Given the description of an element on the screen output the (x, y) to click on. 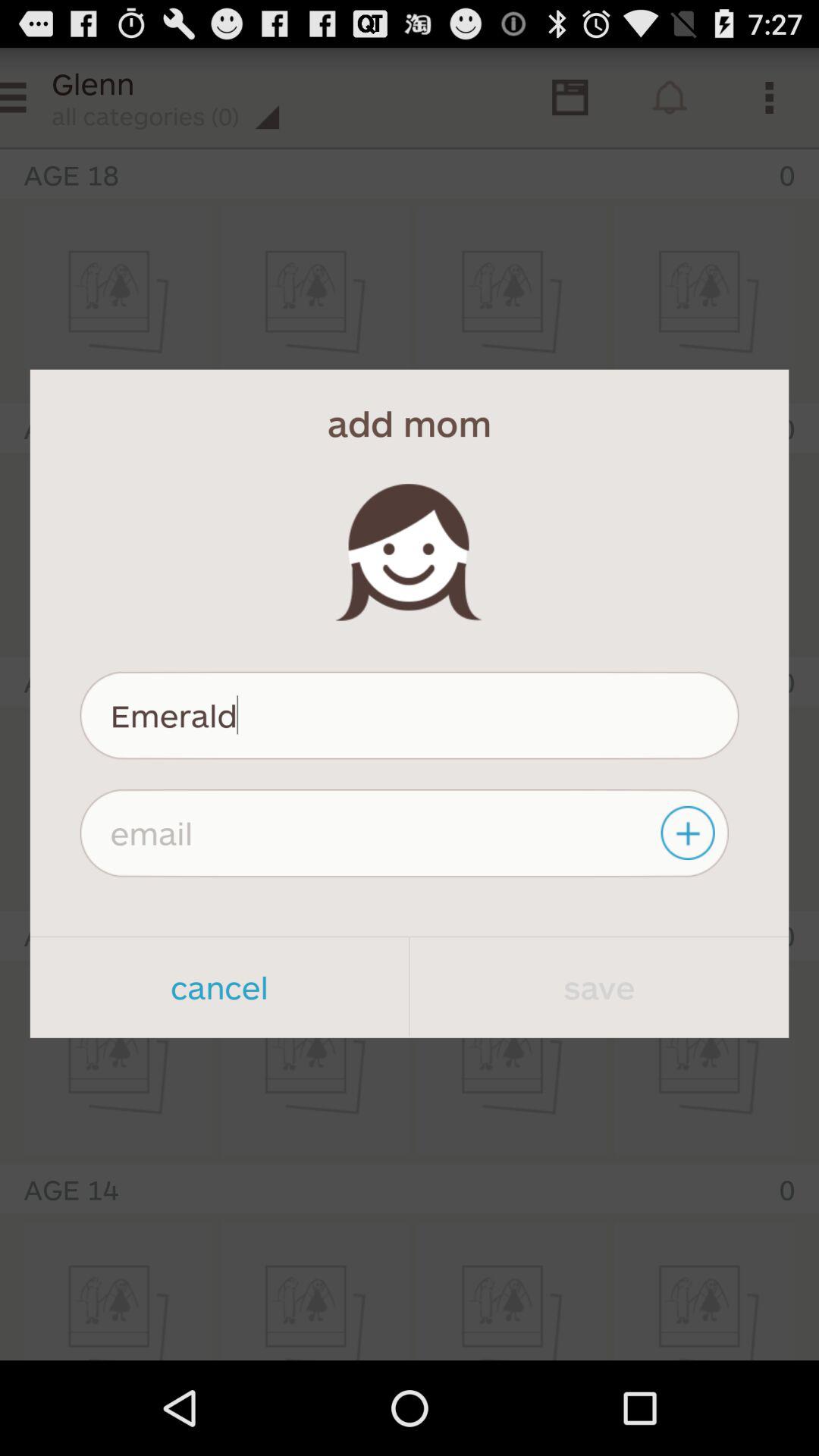
click the item at the bottom right corner (598, 986)
